Given the description of an element on the screen output the (x, y) to click on. 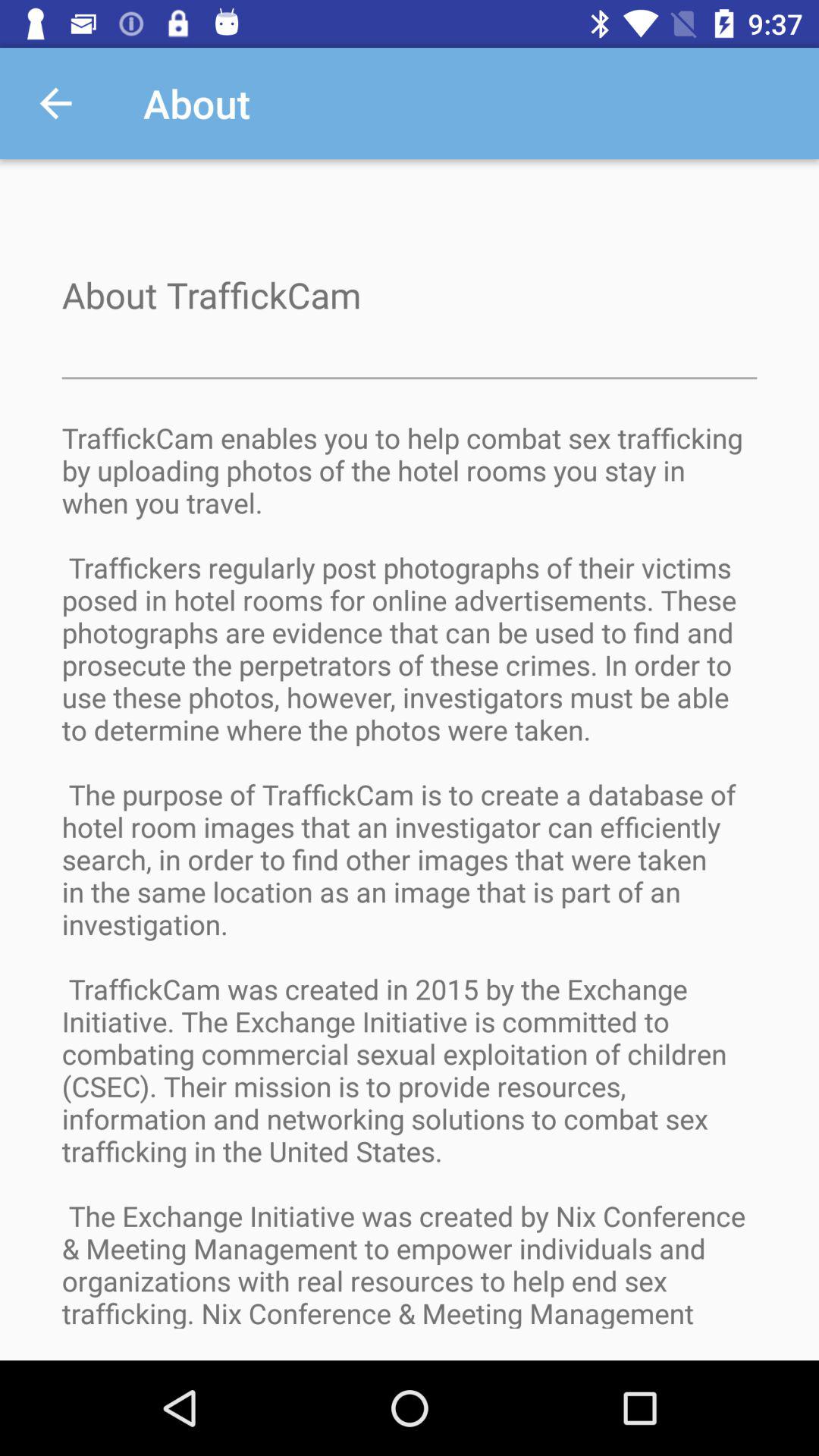
turn on the app next to about app (55, 103)
